Given the description of an element on the screen output the (x, y) to click on. 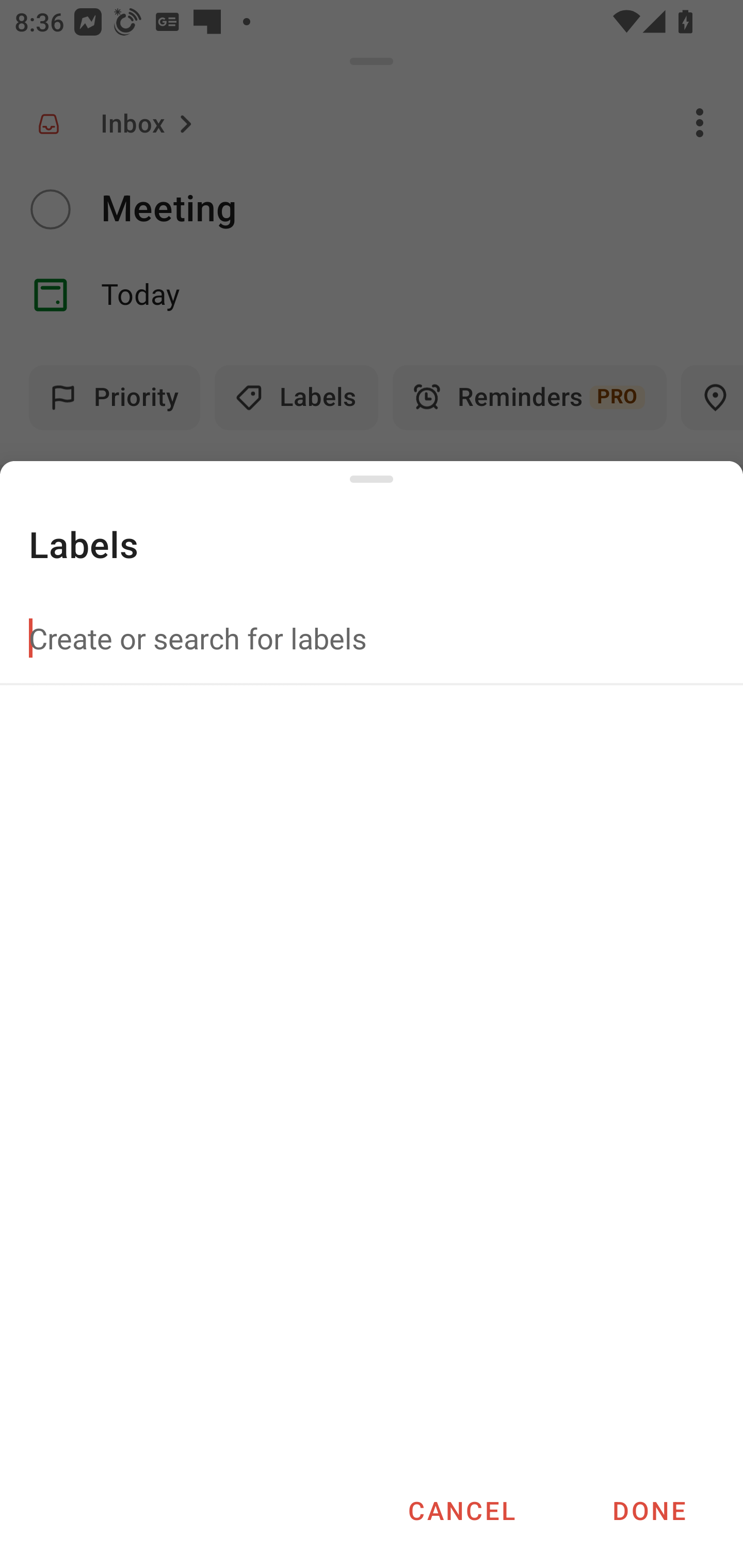
Create or search for labels (371, 638)
CANCEL (460, 1510)
DONE (648, 1510)
